Given the description of an element on the screen output the (x, y) to click on. 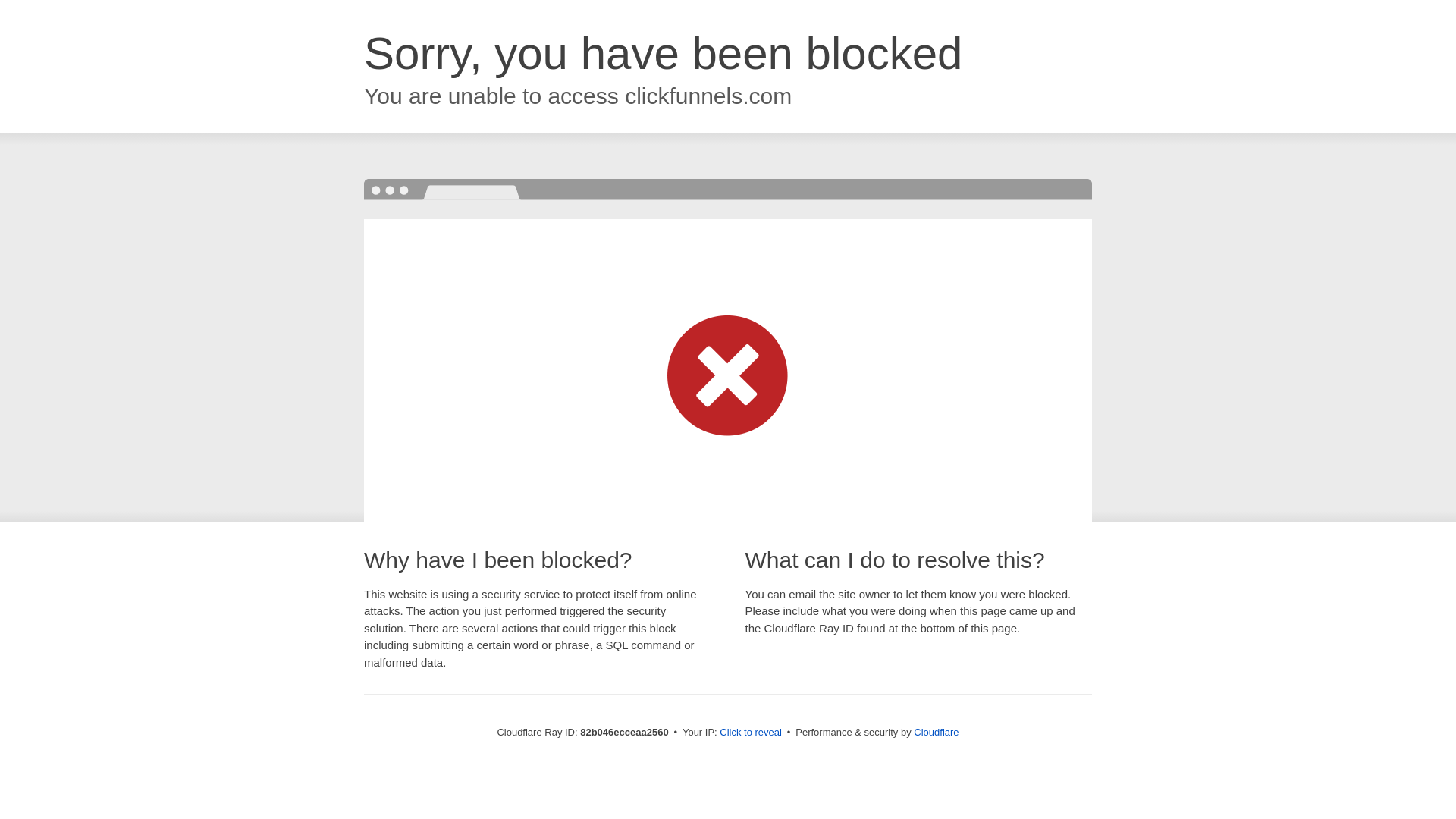
Cloudflare Element type: text (935, 731)
Click to reveal Element type: text (750, 732)
